Given the description of an element on the screen output the (x, y) to click on. 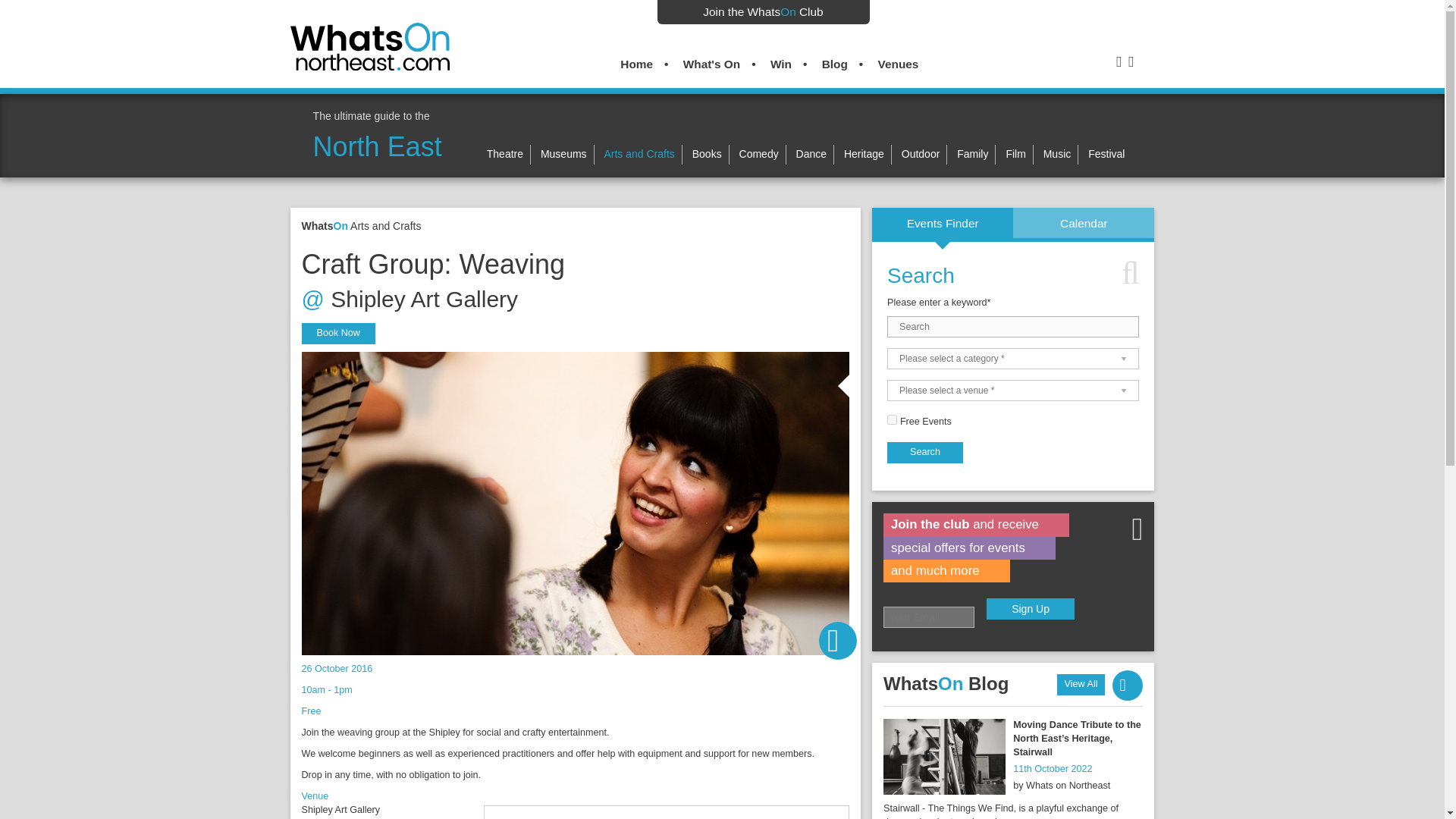
Books (707, 153)
Outdoor (920, 153)
Dance (811, 153)
Comedy (758, 153)
Venues (897, 63)
Family (972, 153)
Heritage (863, 153)
What's On (710, 63)
Keyword (1012, 326)
Sign Up (1030, 608)
on (891, 419)
Blog (834, 63)
Arts and Crafts (639, 153)
Music (1057, 153)
Venue (1012, 390)
